Given the description of an element on the screen output the (x, y) to click on. 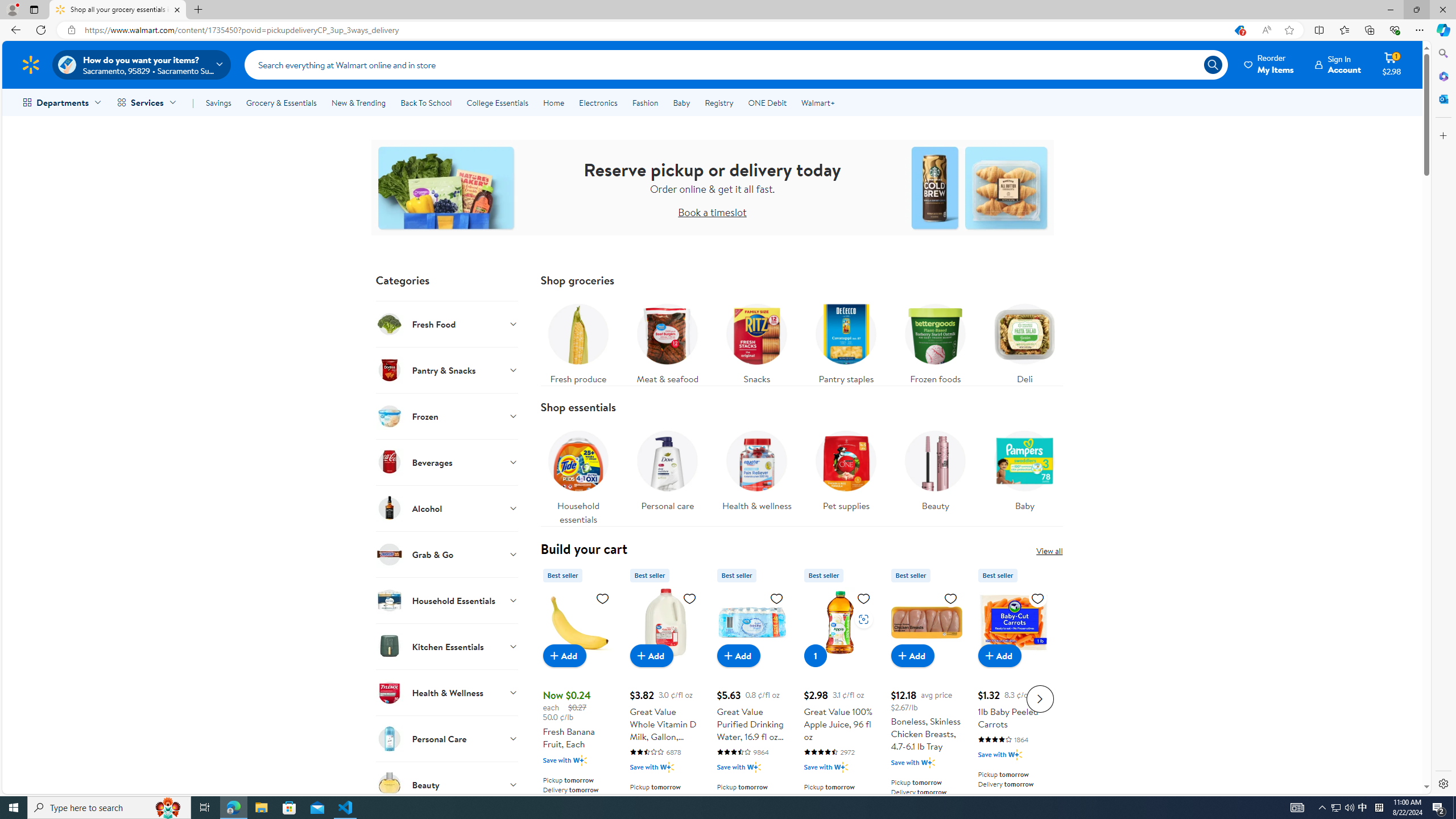
Shop all your grocery essentials in one place! - Walmart.com (117, 9)
Fashion (644, 102)
Cart contains 1 item Total Amount $2.98 (1391, 64)
Fresh Food (446, 323)
Deli (1024, 340)
Snacks (756, 340)
Add to cart - Fresh Banana Fruit, Each (564, 655)
Household essentials (577, 473)
Walmart Homepage (30, 64)
1 in cart, Great Value 100% Apple Juice, 96 fl oz (815, 655)
Snacks (756, 340)
